Given the description of an element on the screen output the (x, y) to click on. 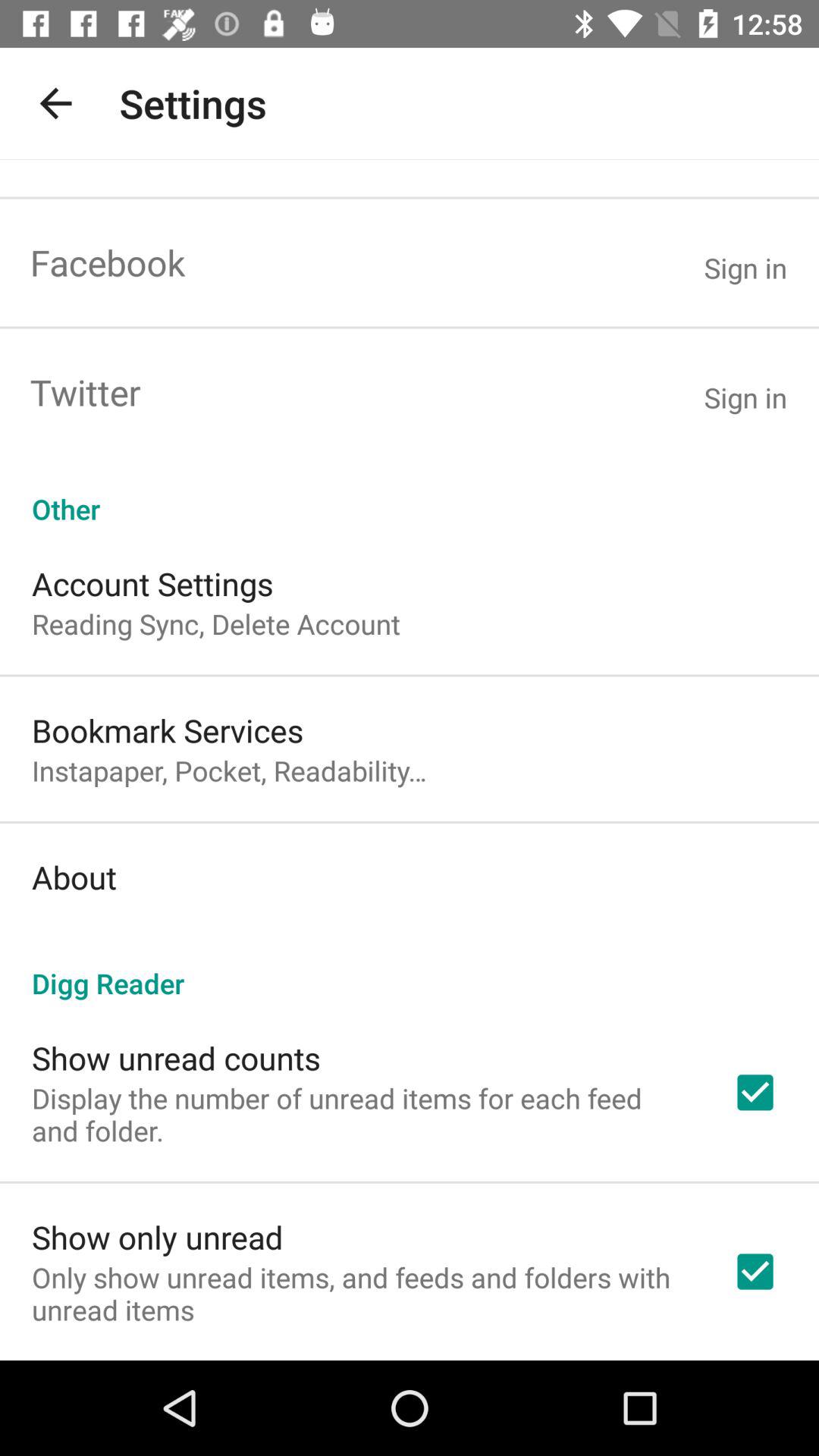
launch the item to the left of settings (55, 103)
